Given the description of an element on the screen output the (x, y) to click on. 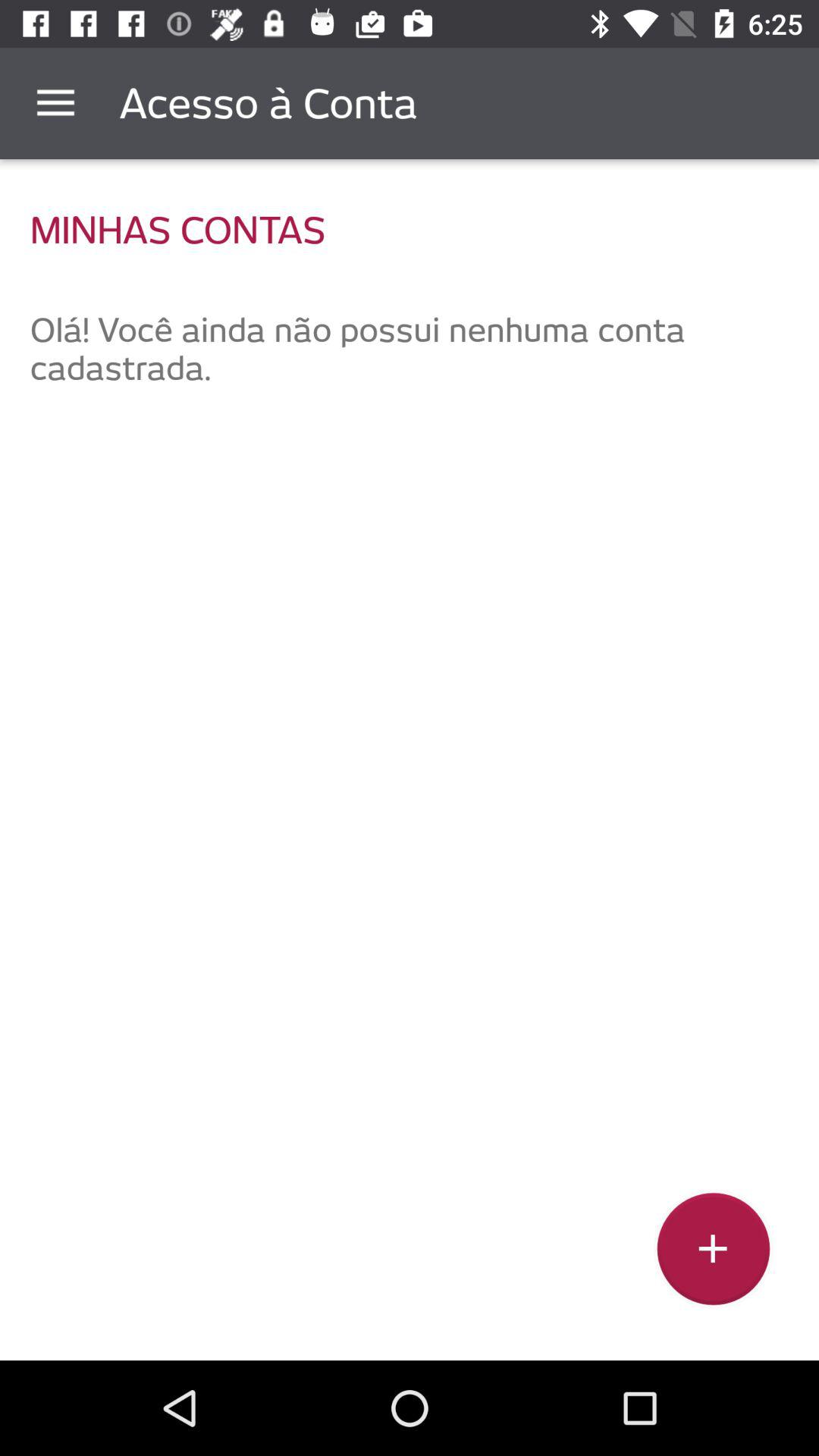
tap icon at the bottom right corner (713, 1254)
